Given the description of an element on the screen output the (x, y) to click on. 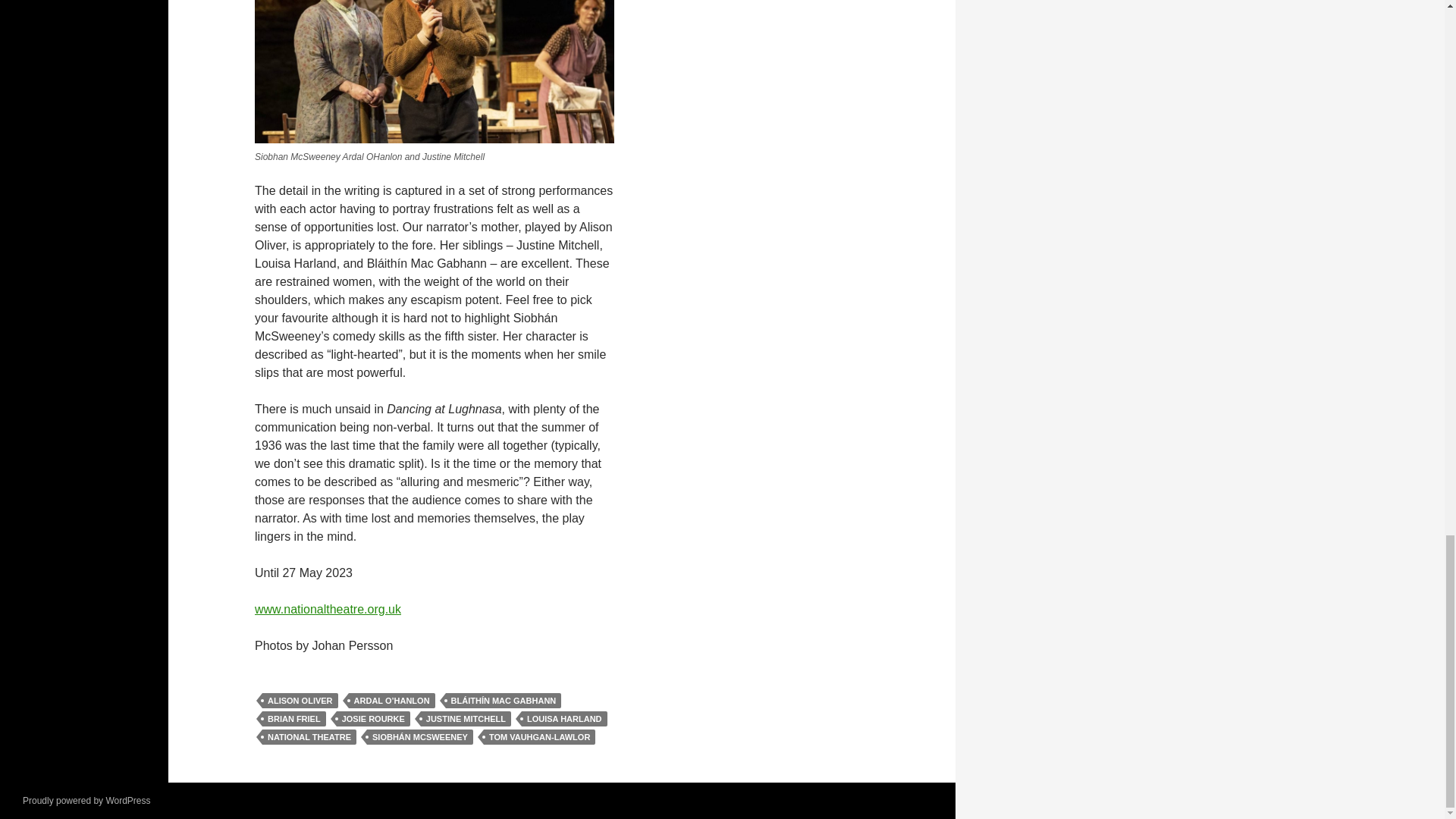
TOM VAUHGAN-LAWLOR (539, 736)
JOSIE ROURKE (373, 718)
NATIONAL THEATRE (309, 736)
www.nationaltheatre.org.uk (327, 608)
LOUISA HARLAND (564, 718)
JUSTINE MITCHELL (465, 718)
BRIAN FRIEL (294, 718)
ALISON OLIVER (299, 700)
